Given the description of an element on the screen output the (x, y) to click on. 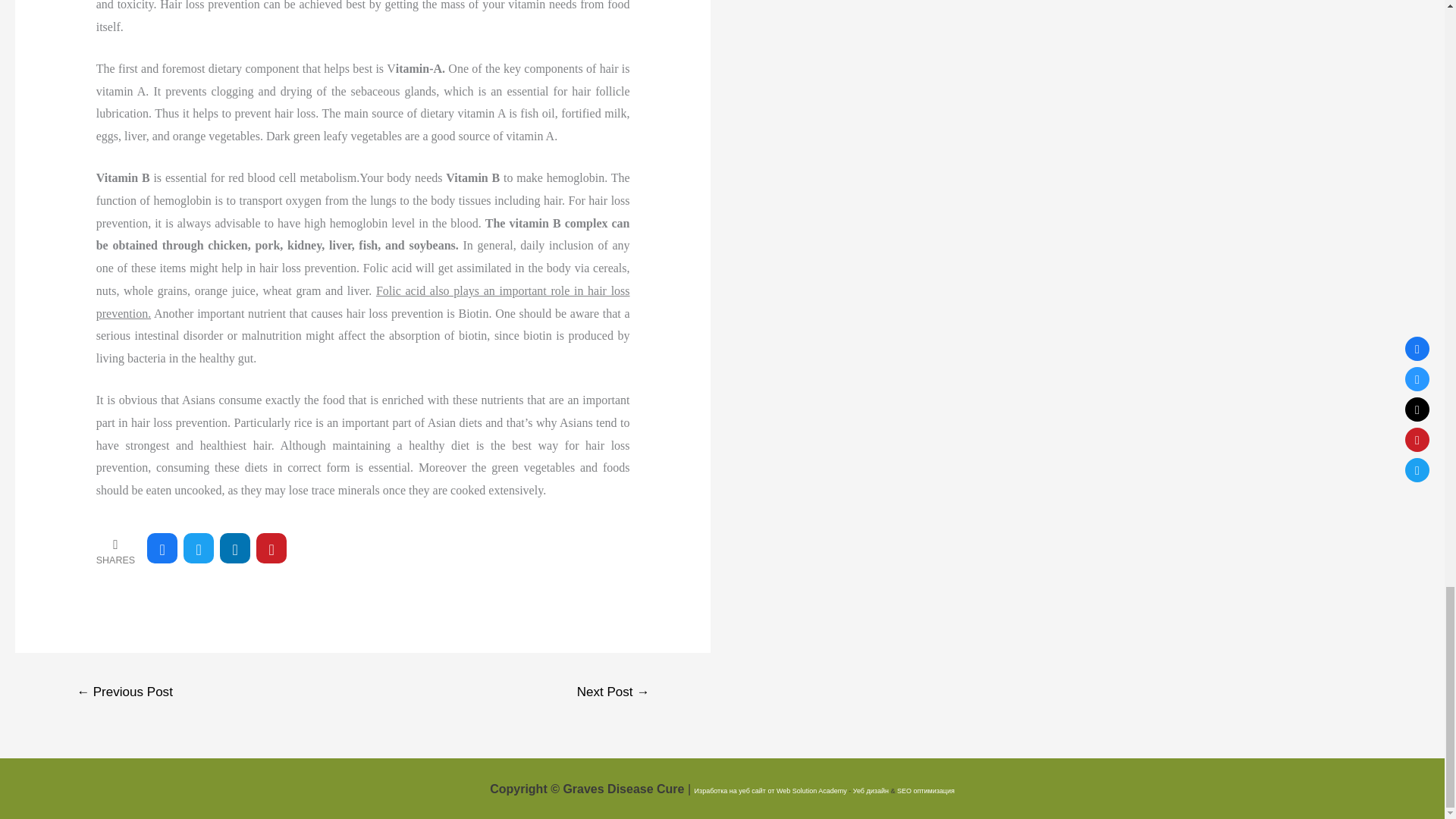
Submit this to Pinterest (271, 548)
Tweet this ! (198, 548)
Add this to LinkedIn (234, 548)
Share this on Facebook (162, 548)
